Given the description of an element on the screen output the (x, y) to click on. 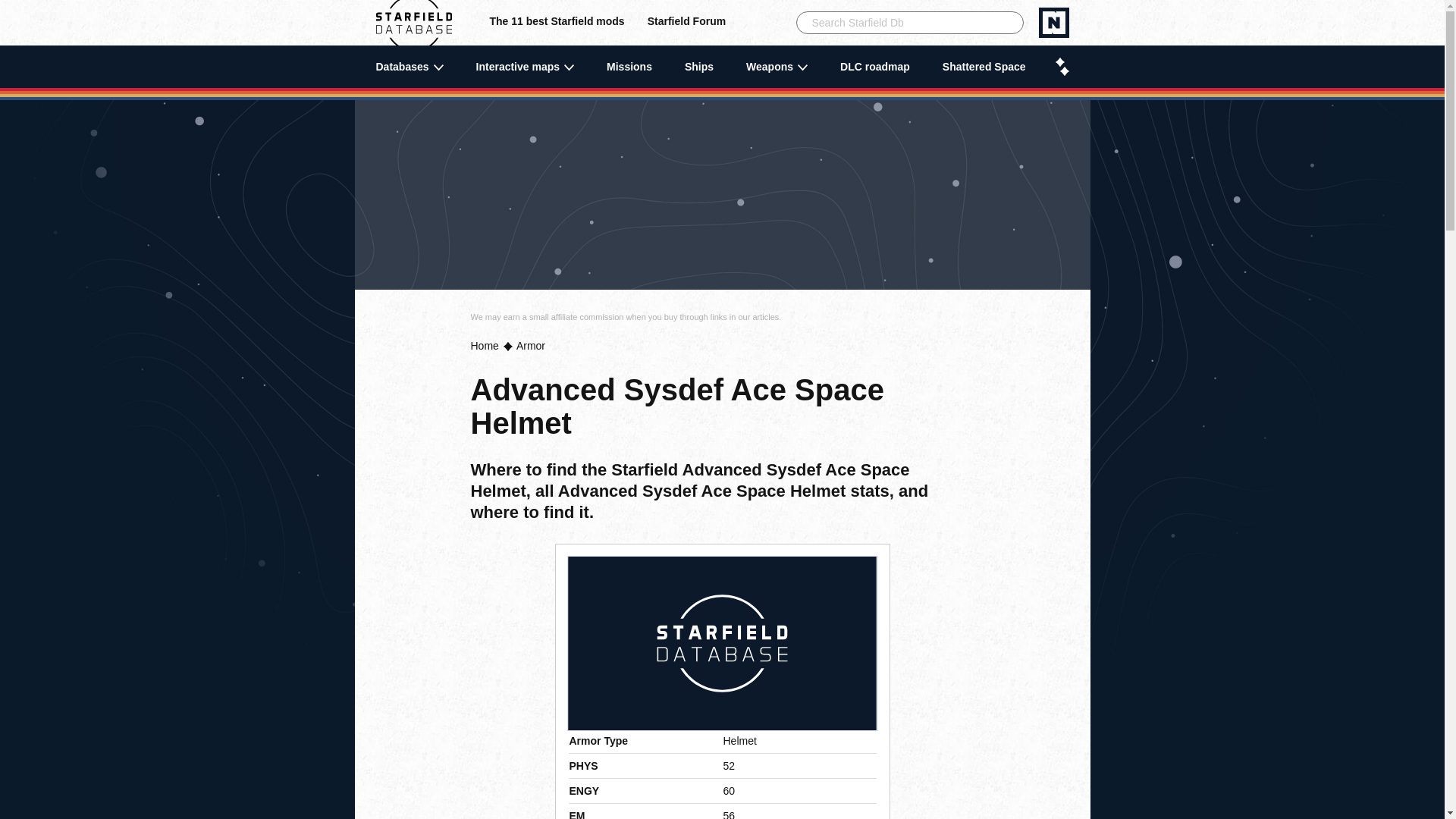
Starfield Forum (686, 22)
Starfield mods (556, 22)
Interactive maps (525, 66)
The 11 best Starfield mods (556, 22)
Databases (409, 66)
